Given the description of an element on the screen output the (x, y) to click on. 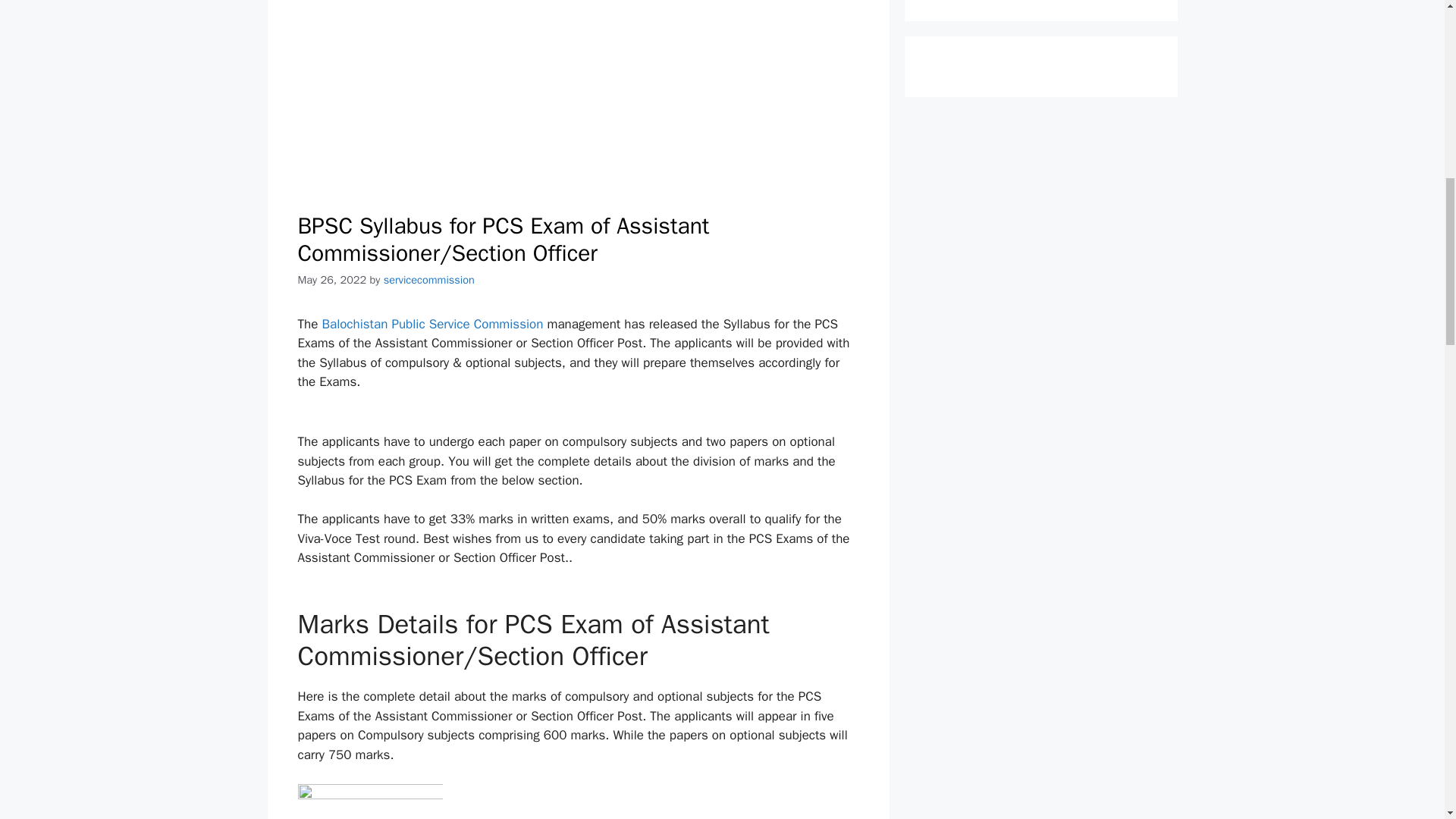
View all posts by servicecommission (429, 279)
